Given the description of an element on the screen output the (x, y) to click on. 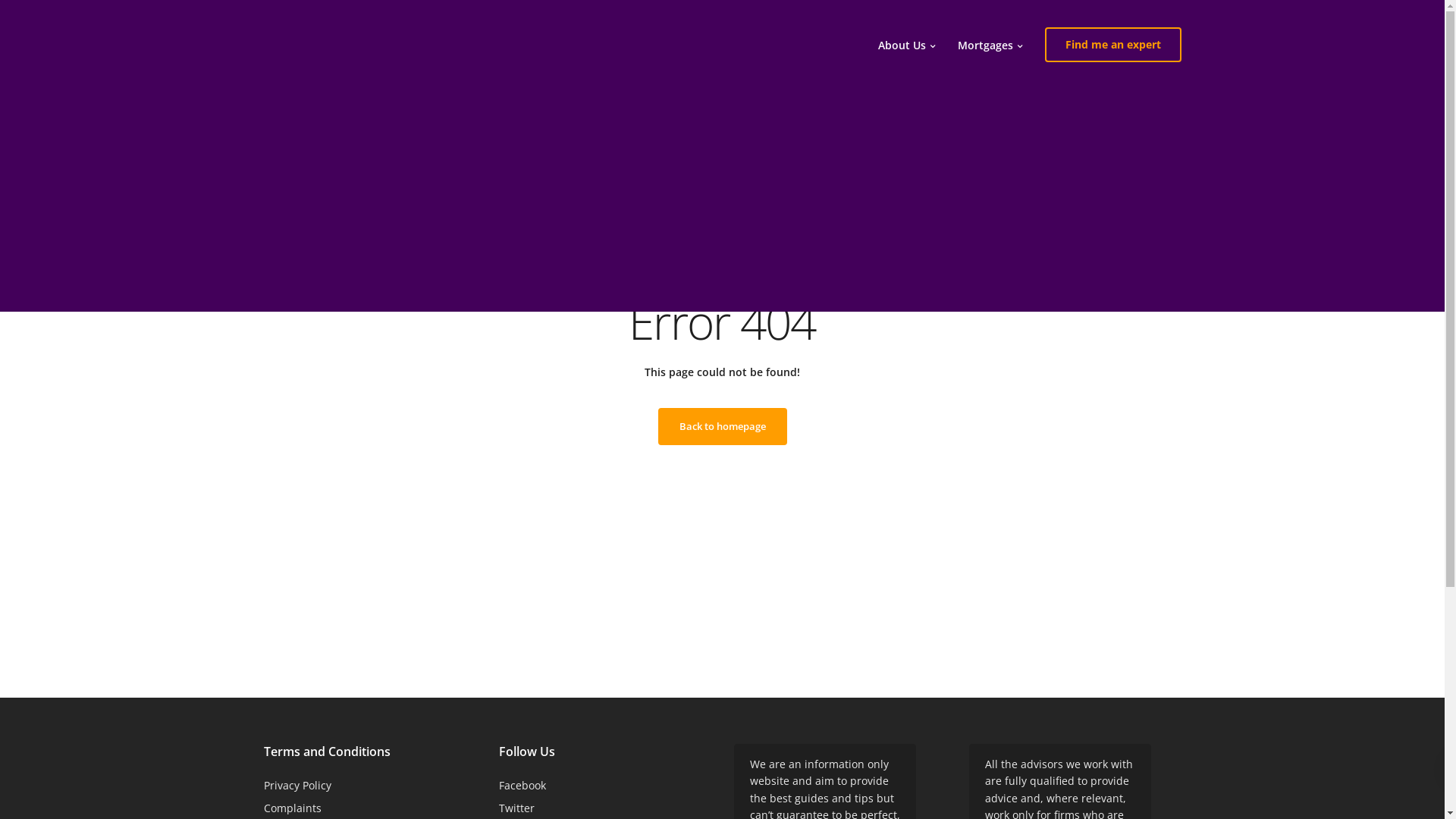
Back to homepage Element type: text (722, 426)
Find me an expert Element type: text (1112, 44)
About Us Element type: text (905, 44)
Privacy Policy Element type: text (297, 785)
Mortgages Element type: text (989, 44)
Complaints Element type: text (292, 807)
Facebook Element type: text (522, 785)
Twitter Element type: text (516, 807)
